Given the description of an element on the screen output the (x, y) to click on. 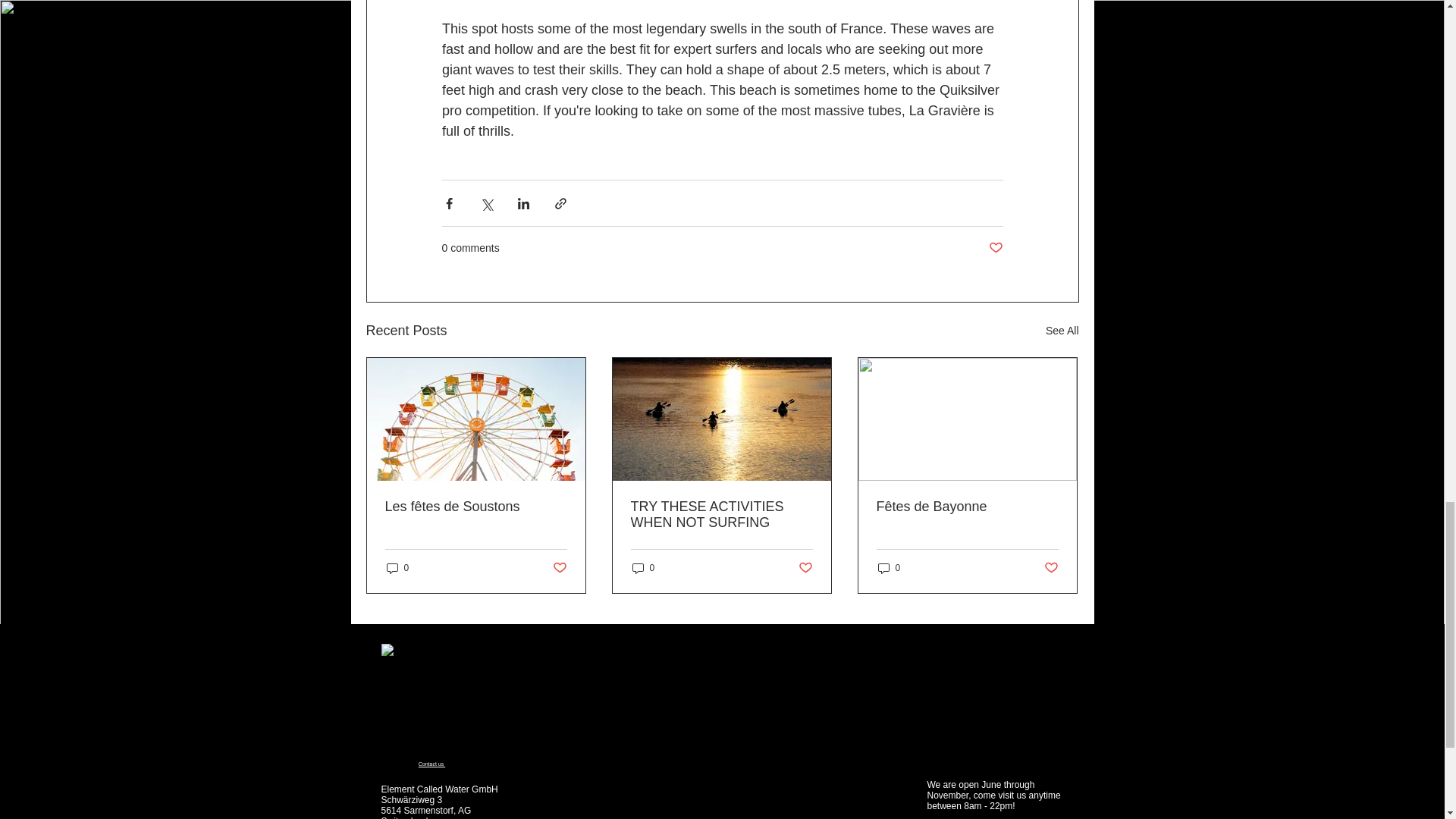
0 (397, 568)
See All (1061, 331)
Post not marked as liked (995, 248)
